Given the description of an element on the screen output the (x, y) to click on. 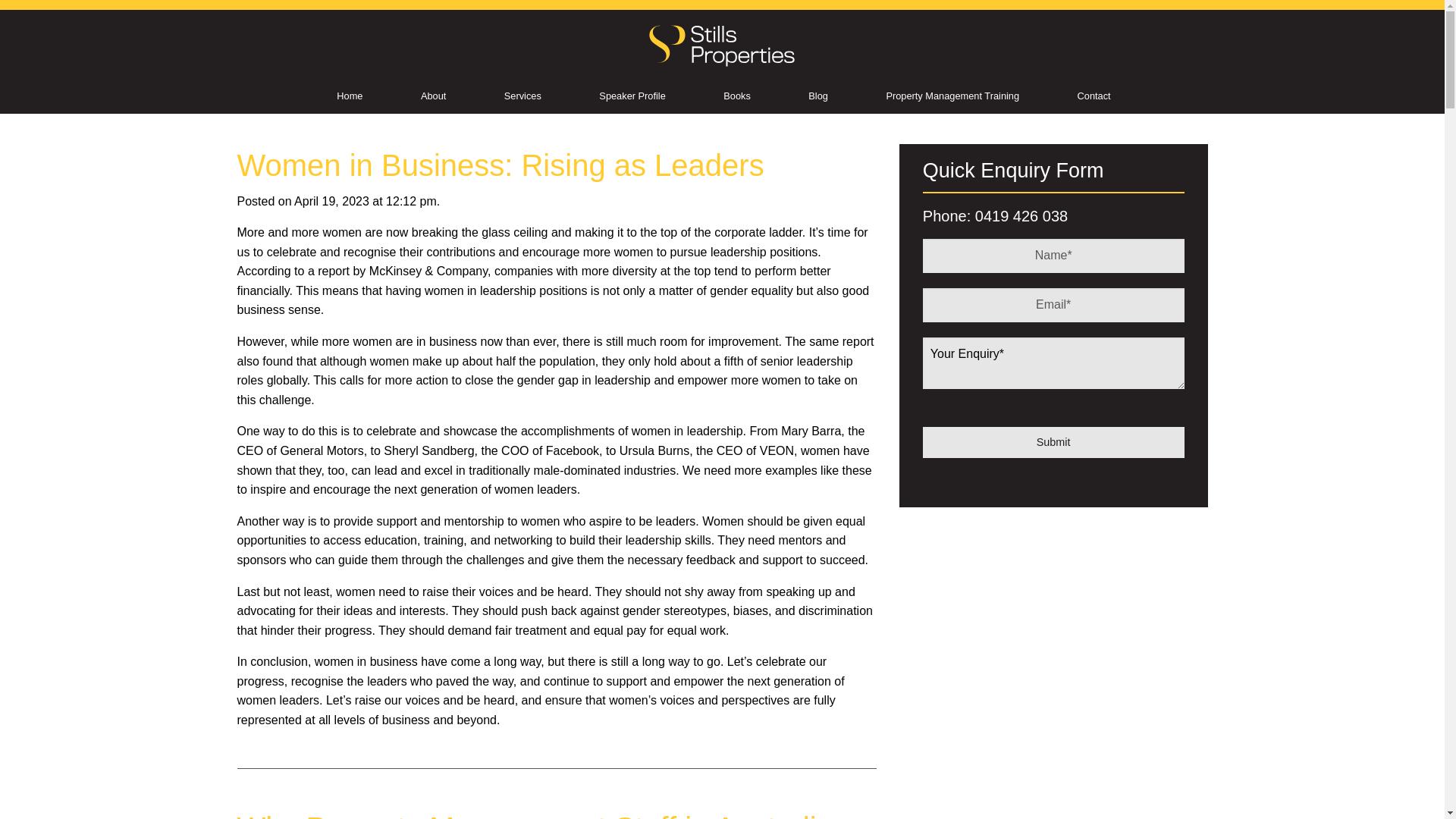
Speaker Profile (632, 96)
Contact (1094, 96)
Submit (1054, 441)
Women in Business: Rising as Leaders (498, 164)
Services (523, 96)
Blog (817, 96)
Home (349, 96)
Submit (1054, 441)
Books (736, 96)
Property Management Training (952, 96)
Stills Properties Consulting (723, 44)
About (432, 96)
